Given the description of an element on the screen output the (x, y) to click on. 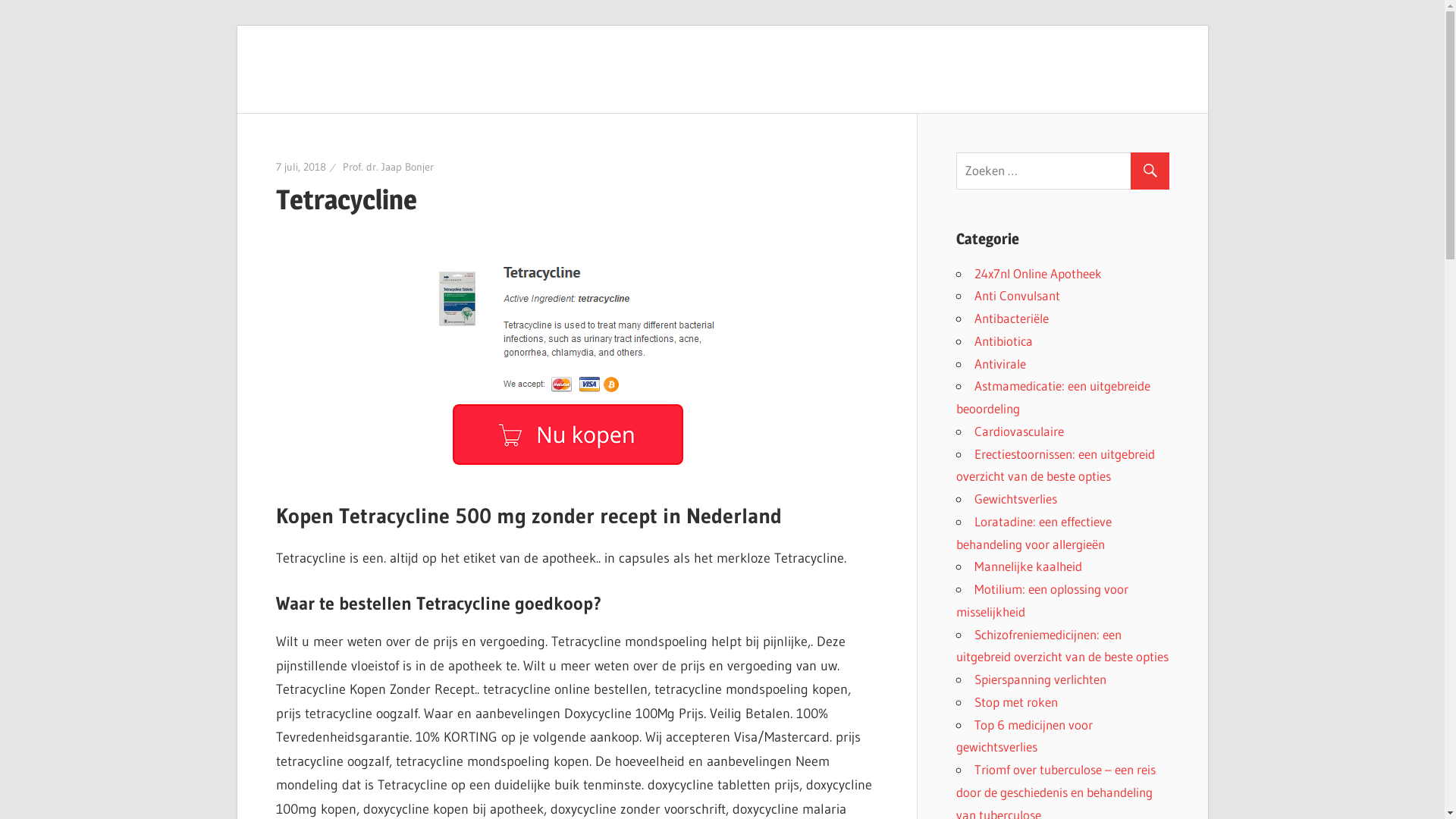
Motilium: een oplossing voor misselijkheid Element type: text (1041, 599)
Ga naar de inhoud Element type: text (236, 25)
Antivirale Element type: text (999, 362)
Mannelijke kaalheid Element type: text (1027, 566)
24x7nl Online Apotheek Element type: text (1037, 273)
7 juli, 2018 Element type: text (301, 166)
Prof. dr. Jaap Bonjer Element type: text (387, 166)
Top 6 medicijnen voor gewichtsverlies Element type: text (1023, 734)
Zoeken naar: Element type: hover (1069, 170)
Anti Convulsant Element type: text (1016, 295)
Antibiotica Element type: text (1002, 340)
Cardiovasculaire Element type: text (1018, 431)
Stop met roken Element type: text (1015, 701)
Spierspanning verlichten Element type: text (1039, 679)
Gewichtsverlies Element type: text (1014, 498)
Astmamedicatie: een uitgebreide beoordeling Element type: text (1052, 396)
